Given the description of an element on the screen output the (x, y) to click on. 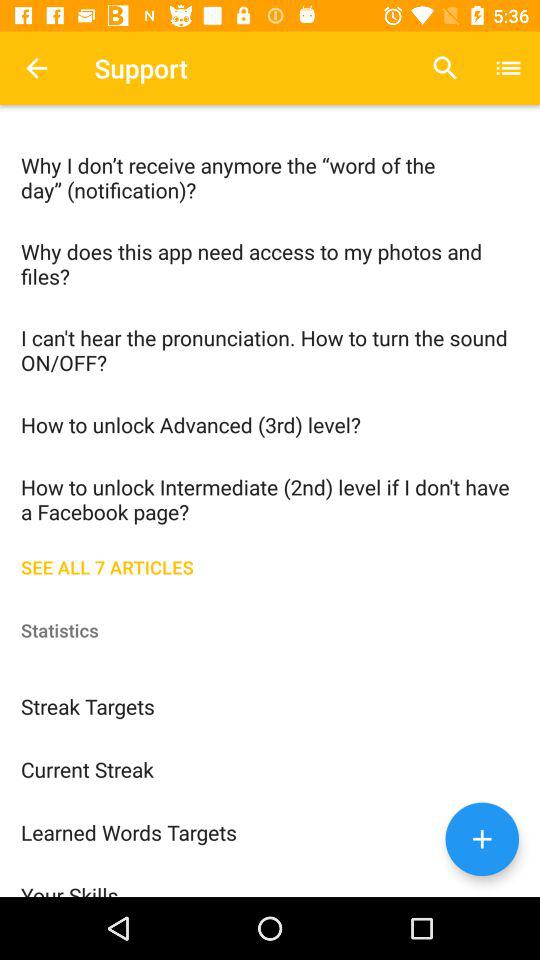
click the see all 7 item (270, 565)
